Given the description of an element on the screen output the (x, y) to click on. 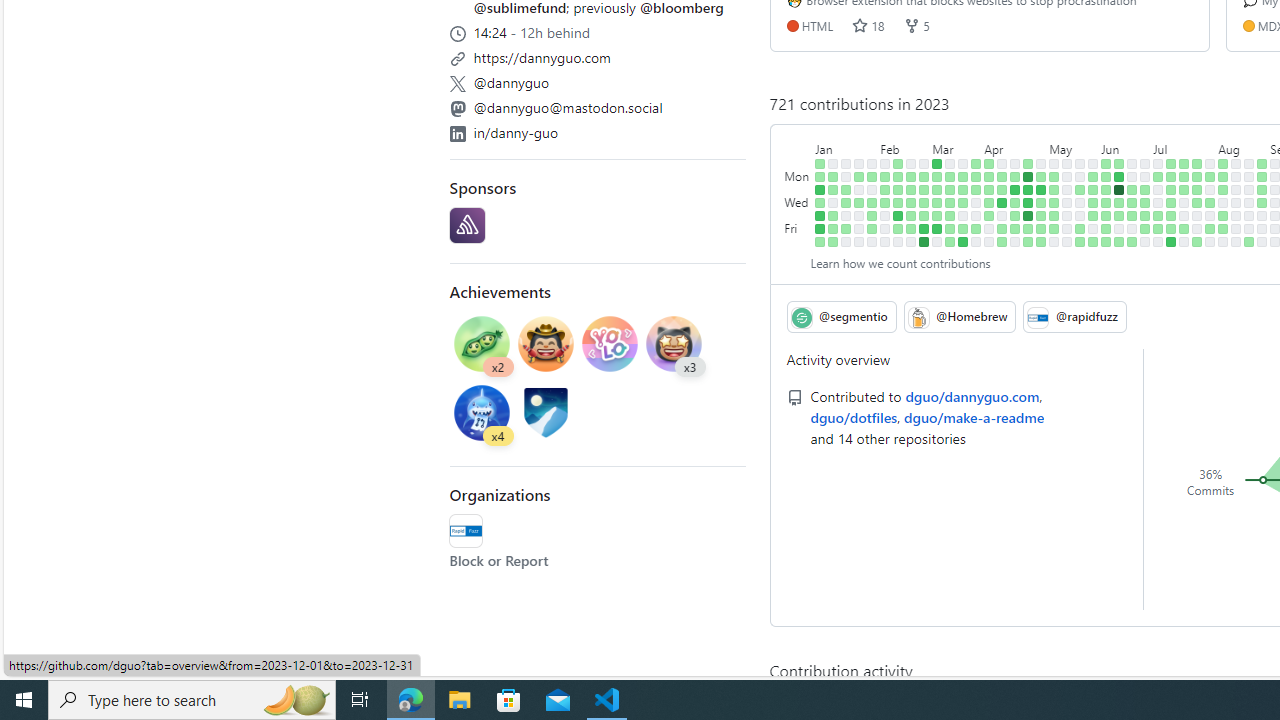
2 contributions on June 3rd. (1093, 241)
No contributions on July 28th. (1197, 228)
in/danny-guo (597, 130)
1 contribution on August 8th. (1223, 189)
2 contributions on April 5th. (989, 202)
1 contribution on February 28th. (924, 189)
4 contributions on February 22nd. (911, 202)
rapidfuzz (465, 530)
2 contributions on January 1st. (820, 163)
No contributions on May 14th. (1067, 163)
6 contributions on April 21st. (1015, 228)
7 contributions on May 8th. (1054, 176)
2 contributions on April 19th. (1015, 202)
8 contributions on April 17th. (1015, 176)
2 contributions on January 12th. (833, 215)
